Given the description of an element on the screen output the (x, y) to click on. 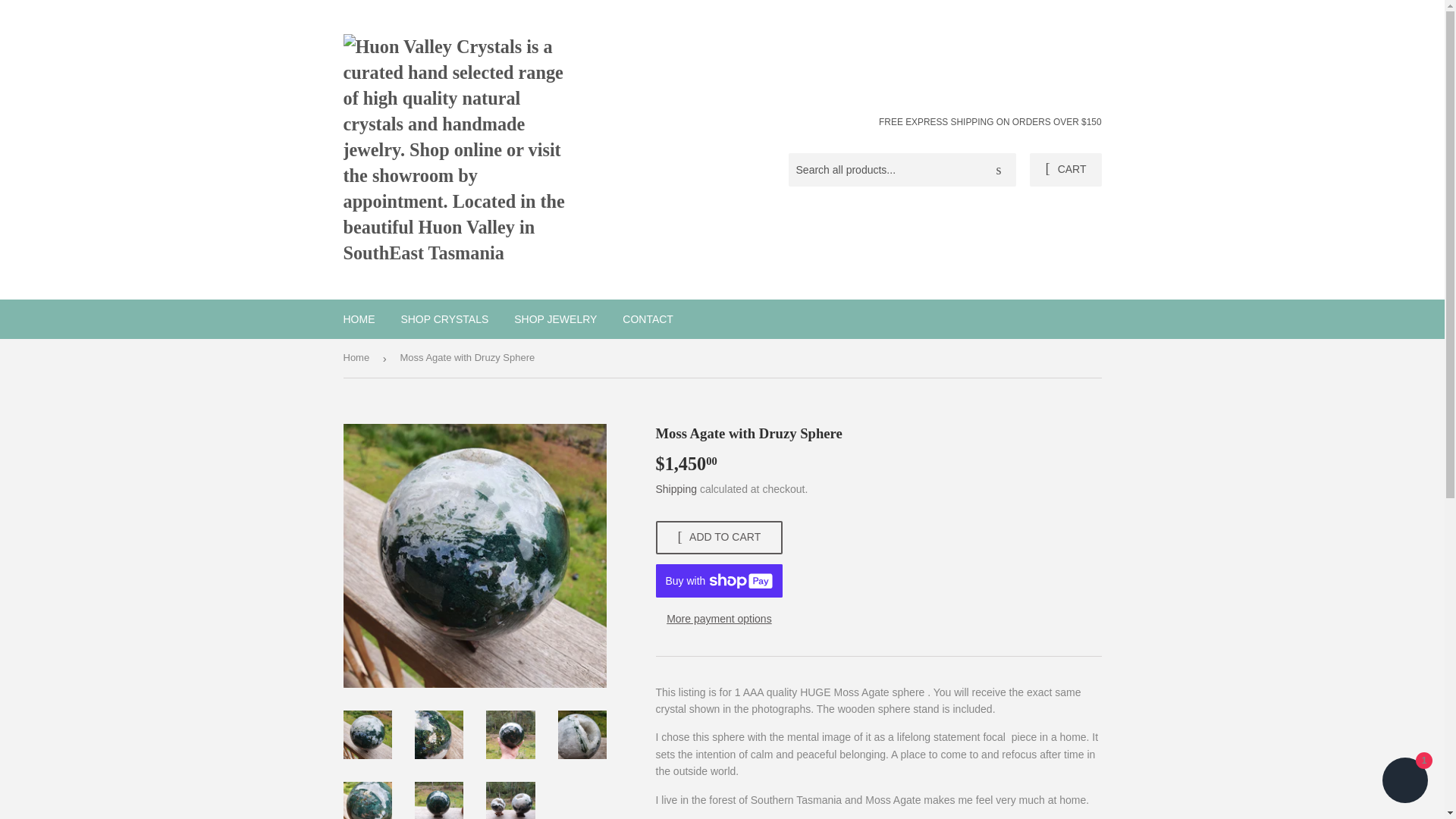
SHOP JEWELRY (555, 319)
Shopify online store chat (1404, 781)
Back to the frontpage (358, 358)
HOME (359, 319)
CONTACT (647, 319)
ADD TO CART (719, 537)
SHOP CRYSTALS (443, 319)
Home (358, 358)
More payment options (719, 618)
Search (998, 170)
Shipping (676, 489)
CART (1064, 169)
